Given the description of an element on the screen output the (x, y) to click on. 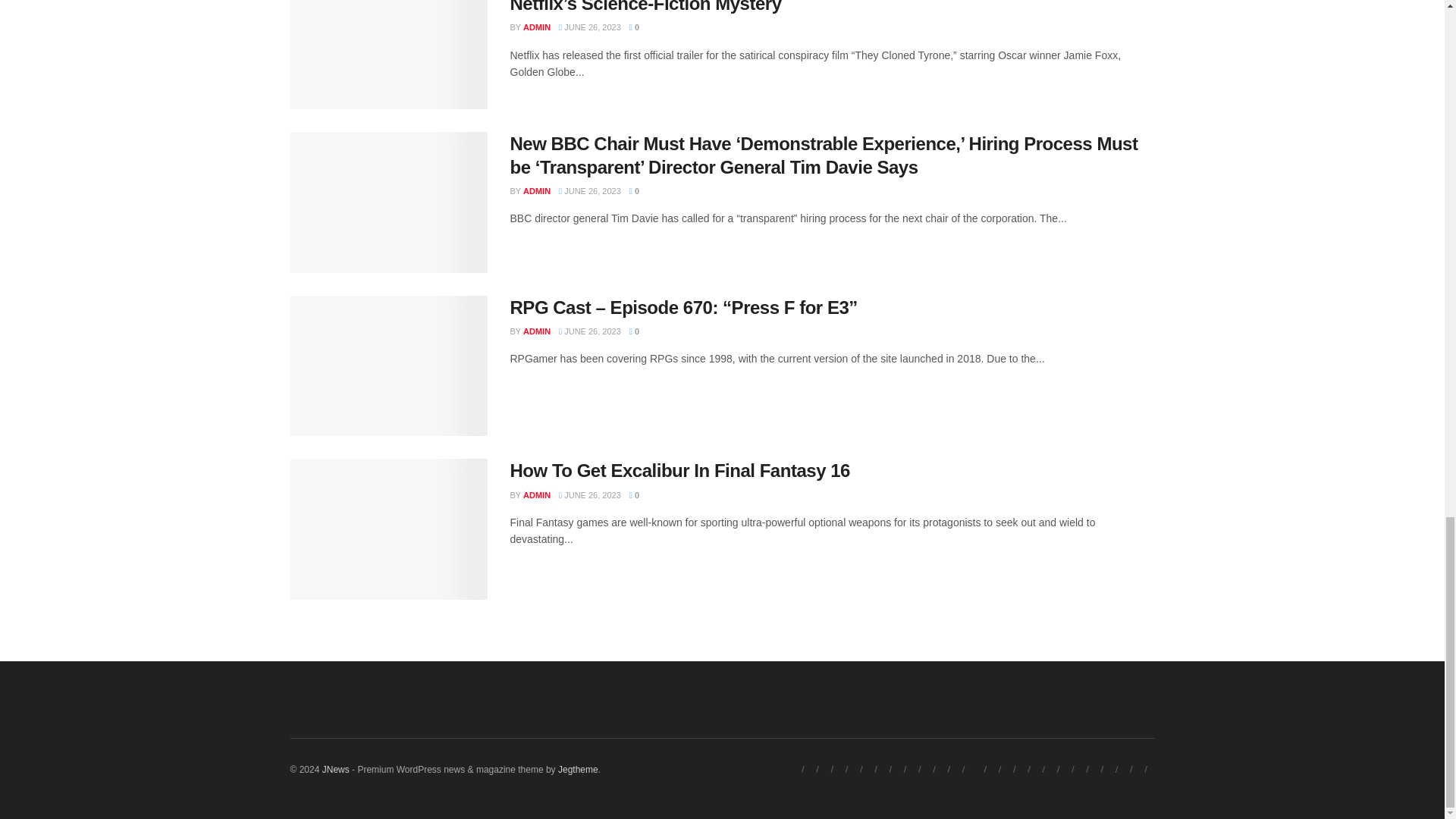
Jegtheme (577, 769)
